Given the description of an element on the screen output the (x, y) to click on. 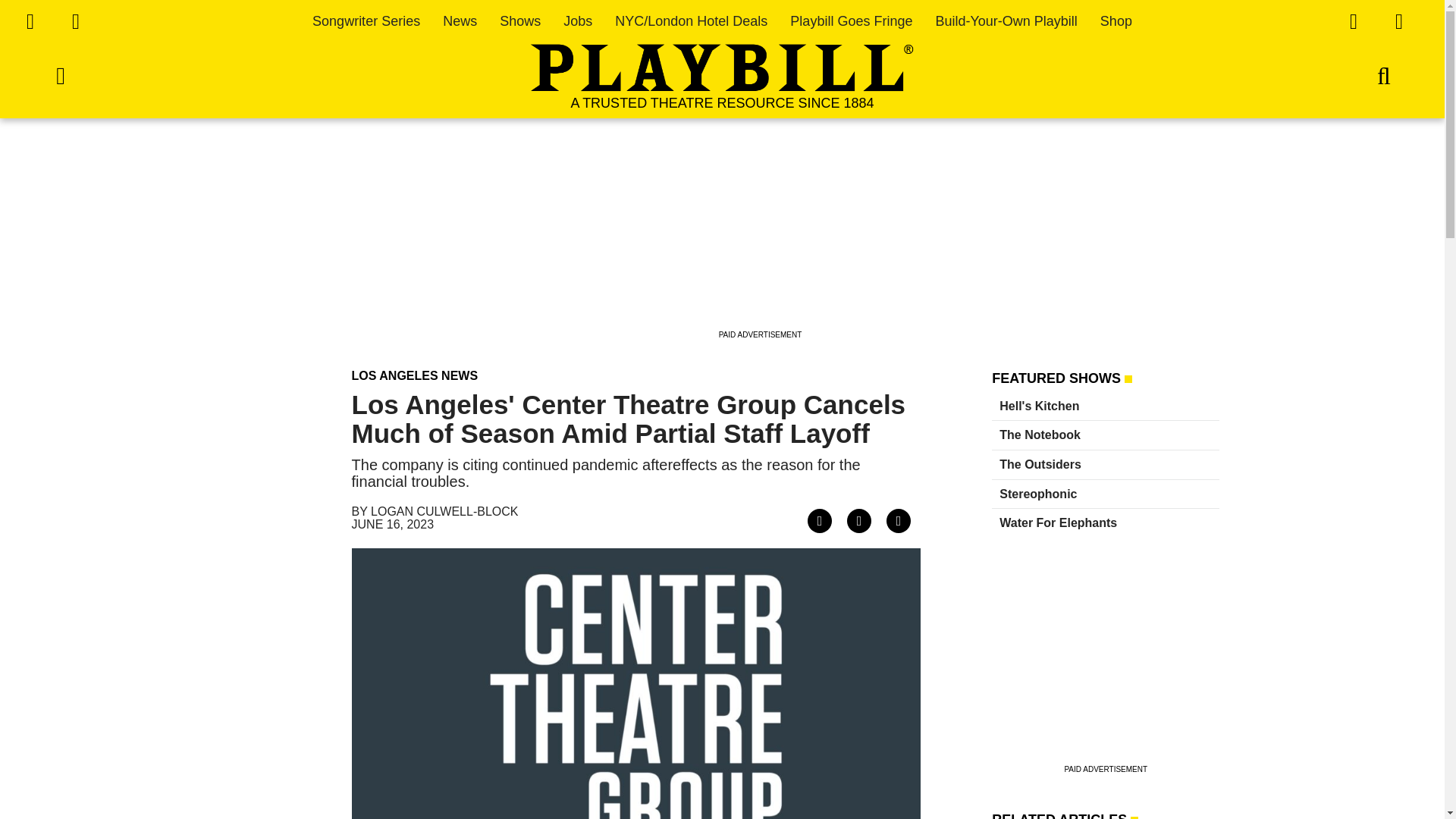
Songwriter Series (366, 20)
Playbill Goes Fringe (851, 20)
News (459, 20)
Shows (519, 20)
Jobs (577, 20)
Build-Your-Own Playbill (1005, 20)
Shop (1116, 20)
